Given the description of an element on the screen output the (x, y) to click on. 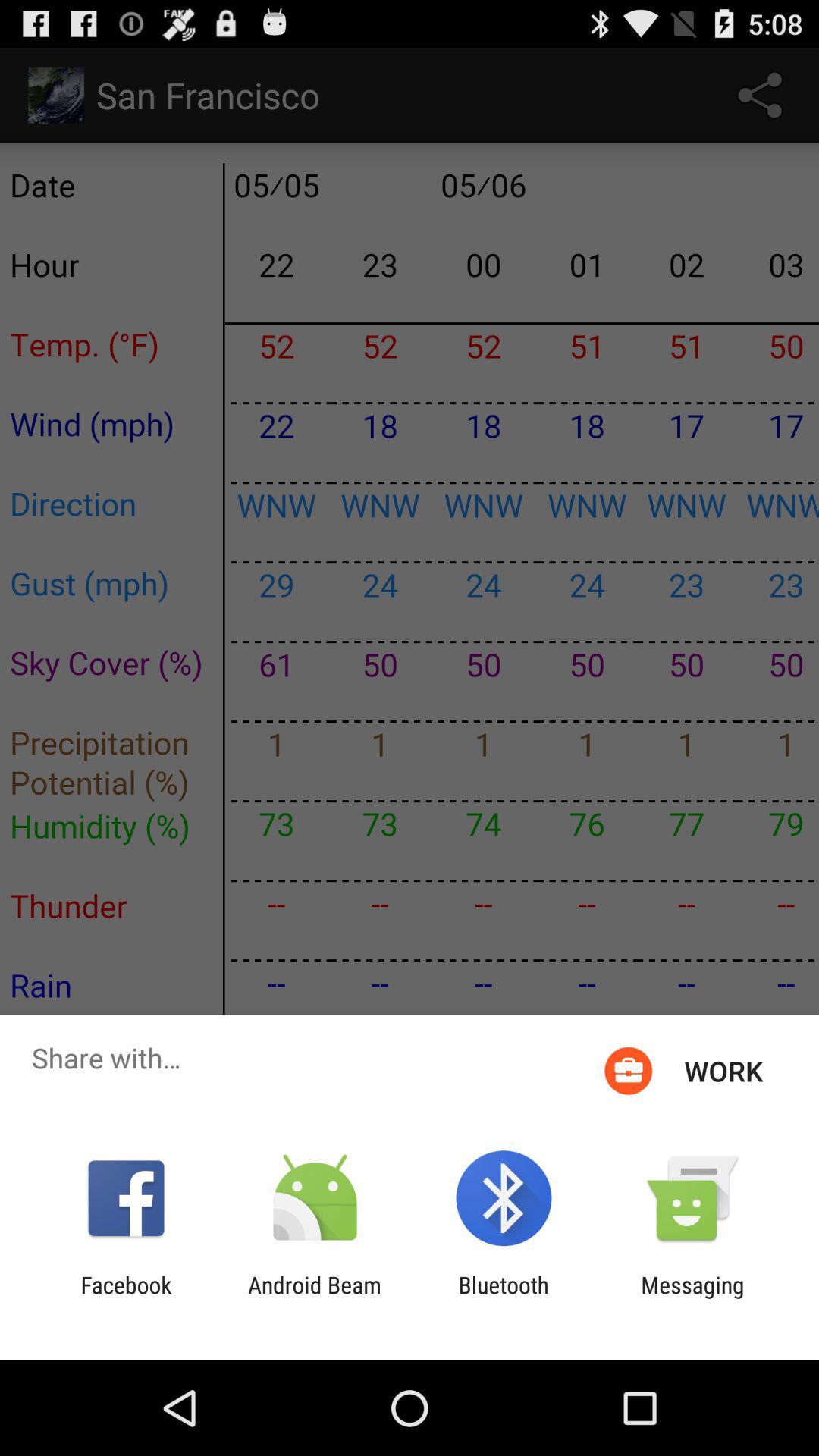
press the app next to bluetooth (692, 1298)
